Given the description of an element on the screen output the (x, y) to click on. 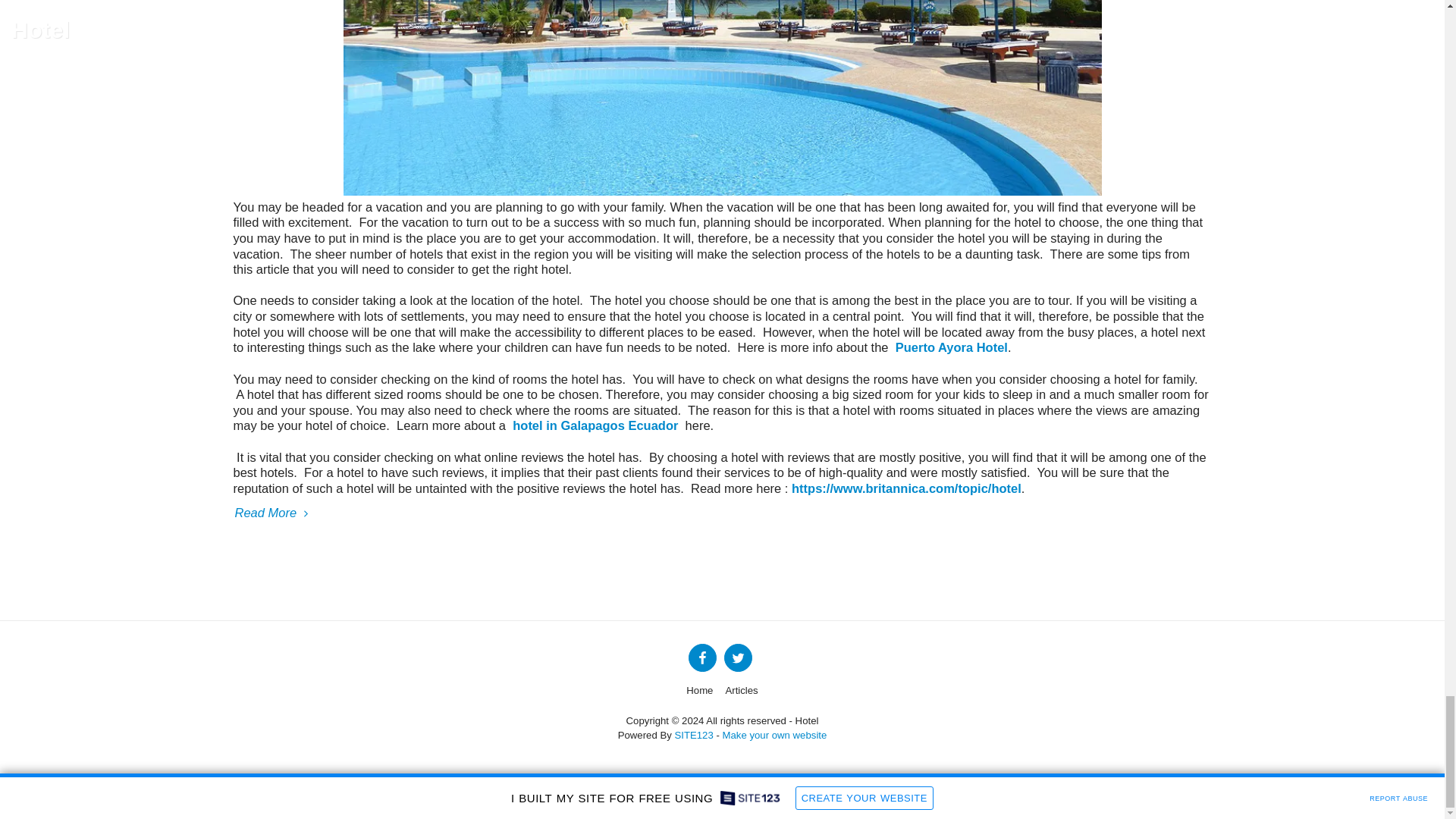
Home (699, 690)
  Puerto Ayora Hotel (947, 346)
hotel in Galapagos Ecuador  (596, 425)
Articles (741, 690)
